Given the description of an element on the screen output the (x, y) to click on. 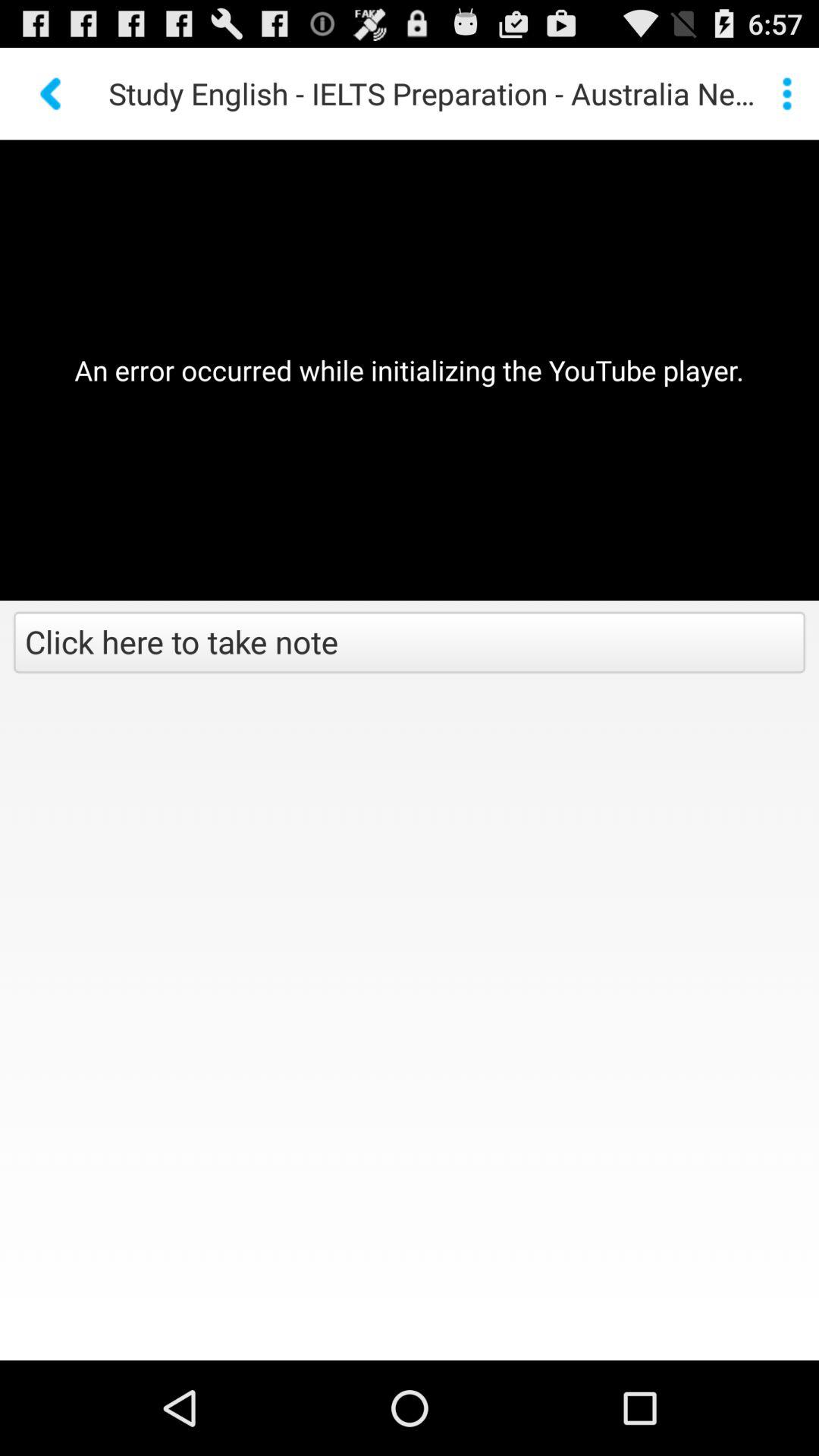
go back to the previous page (52, 93)
